Given the description of an element on the screen output the (x, y) to click on. 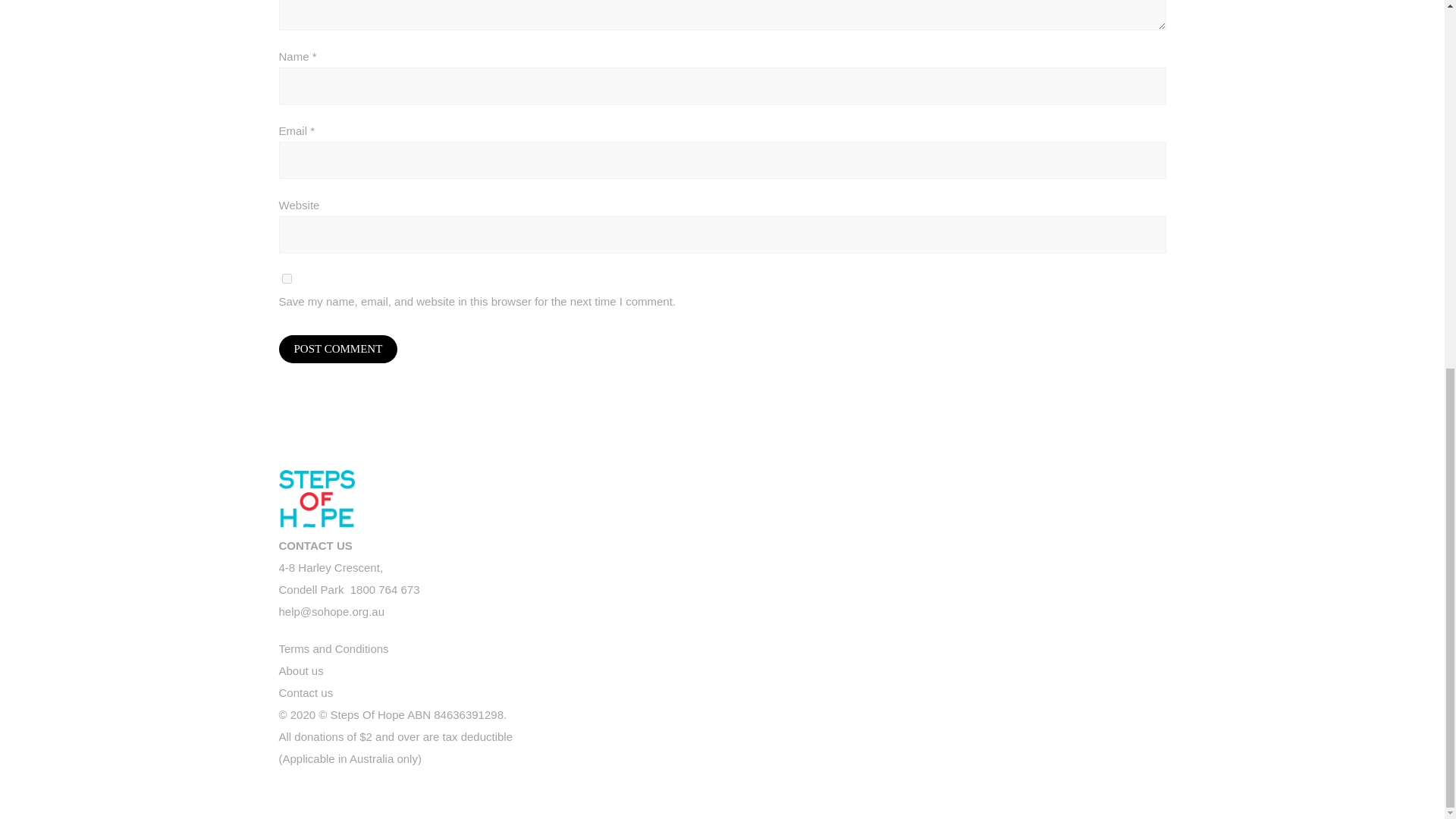
1800 764 673 (385, 589)
About us (301, 670)
Post Comment (338, 348)
yes (287, 278)
Terms and Conditions (333, 648)
Contact us (306, 692)
Post Comment (331, 578)
